Given the description of an element on the screen output the (x, y) to click on. 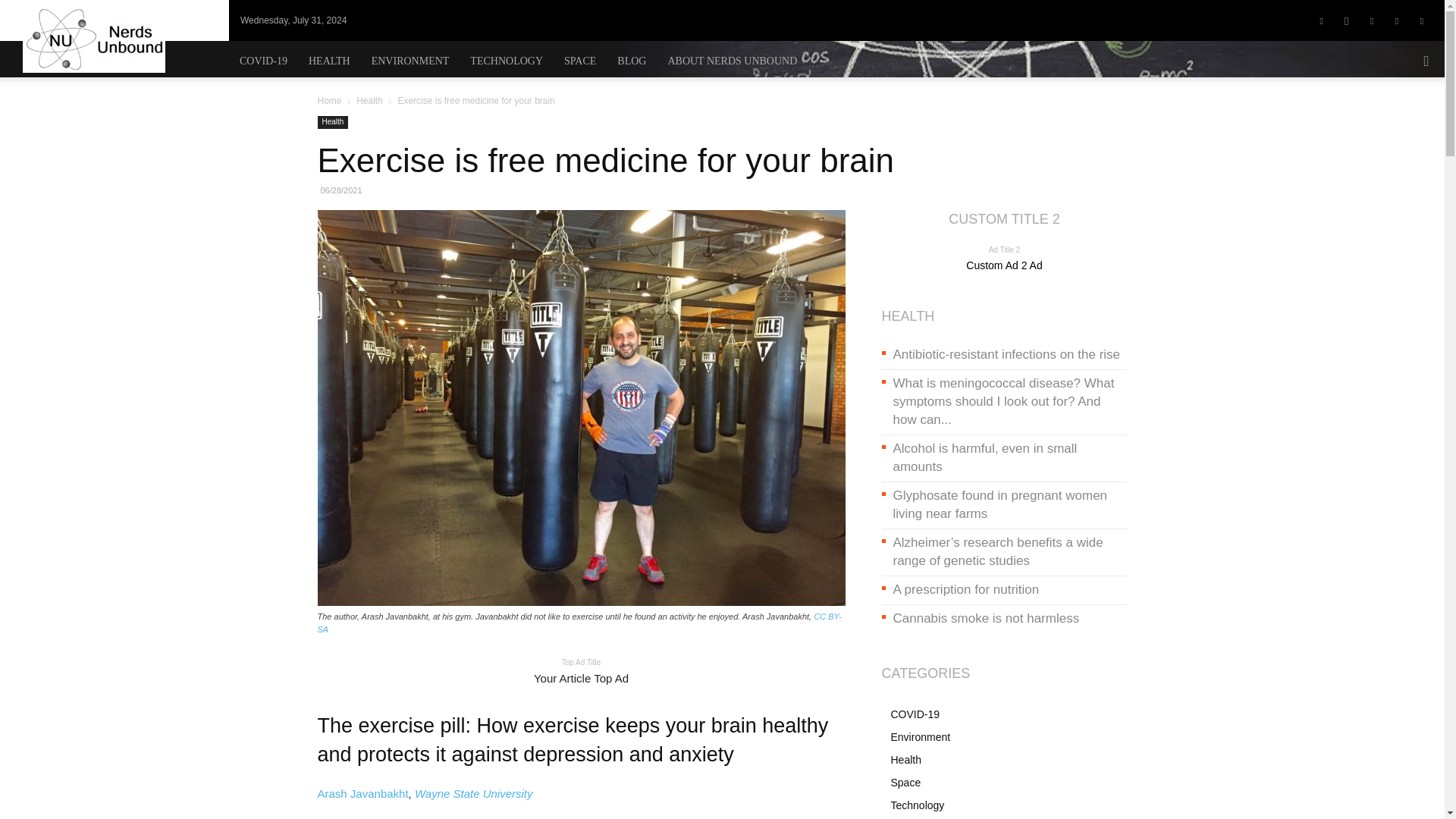
Instagram (1346, 20)
Youtube (1421, 20)
COVID-19 (263, 60)
HEALTH (329, 60)
Newsletter sign up (475, 20)
Vimeo (1396, 20)
Facebook (1321, 20)
View all posts in Health (369, 100)
Twitter (1371, 20)
